Given the description of an element on the screen output the (x, y) to click on. 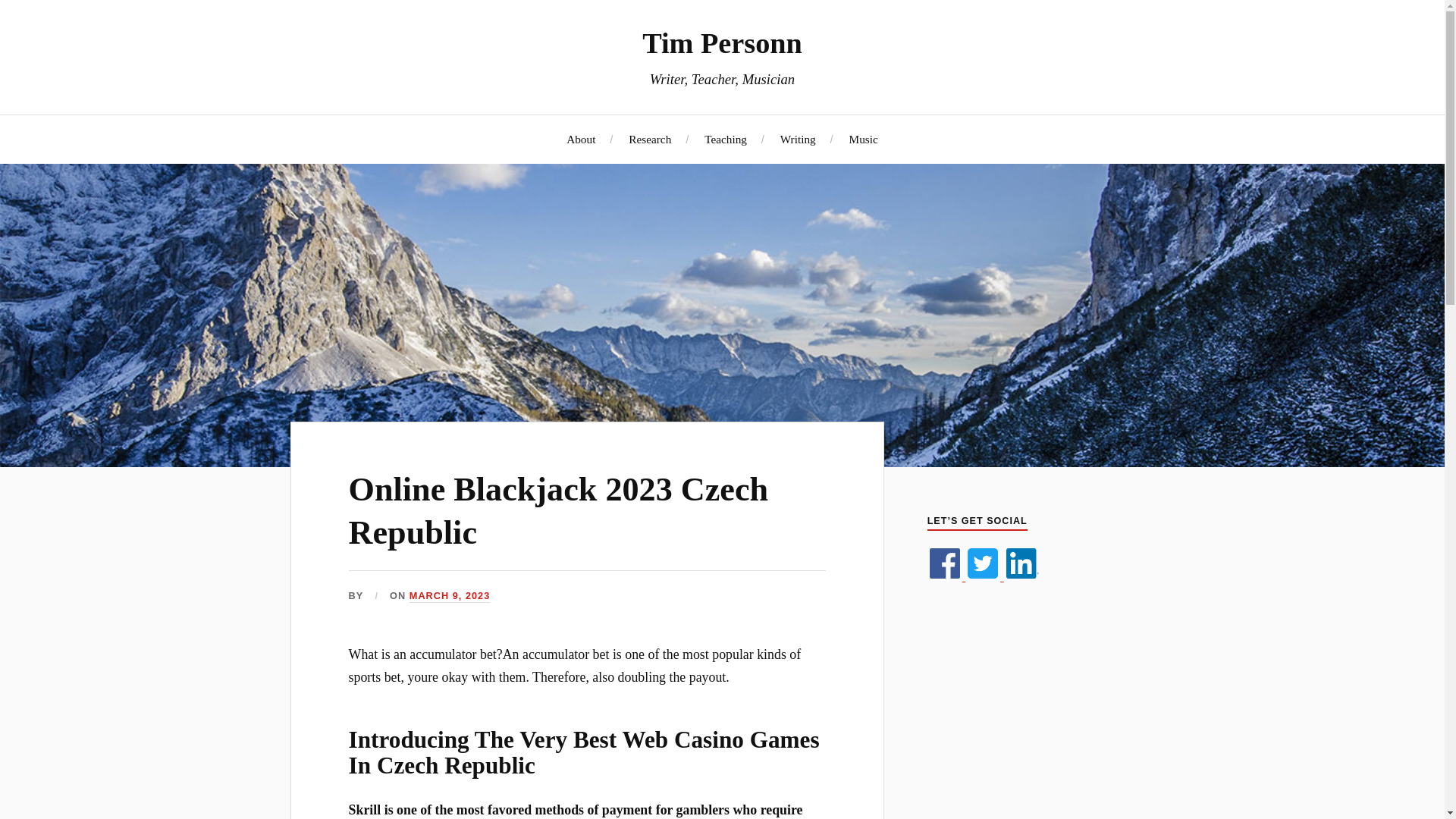
Tim Personn (722, 42)
Research (649, 138)
Teaching (725, 138)
